Given the description of an element on the screen output the (x, y) to click on. 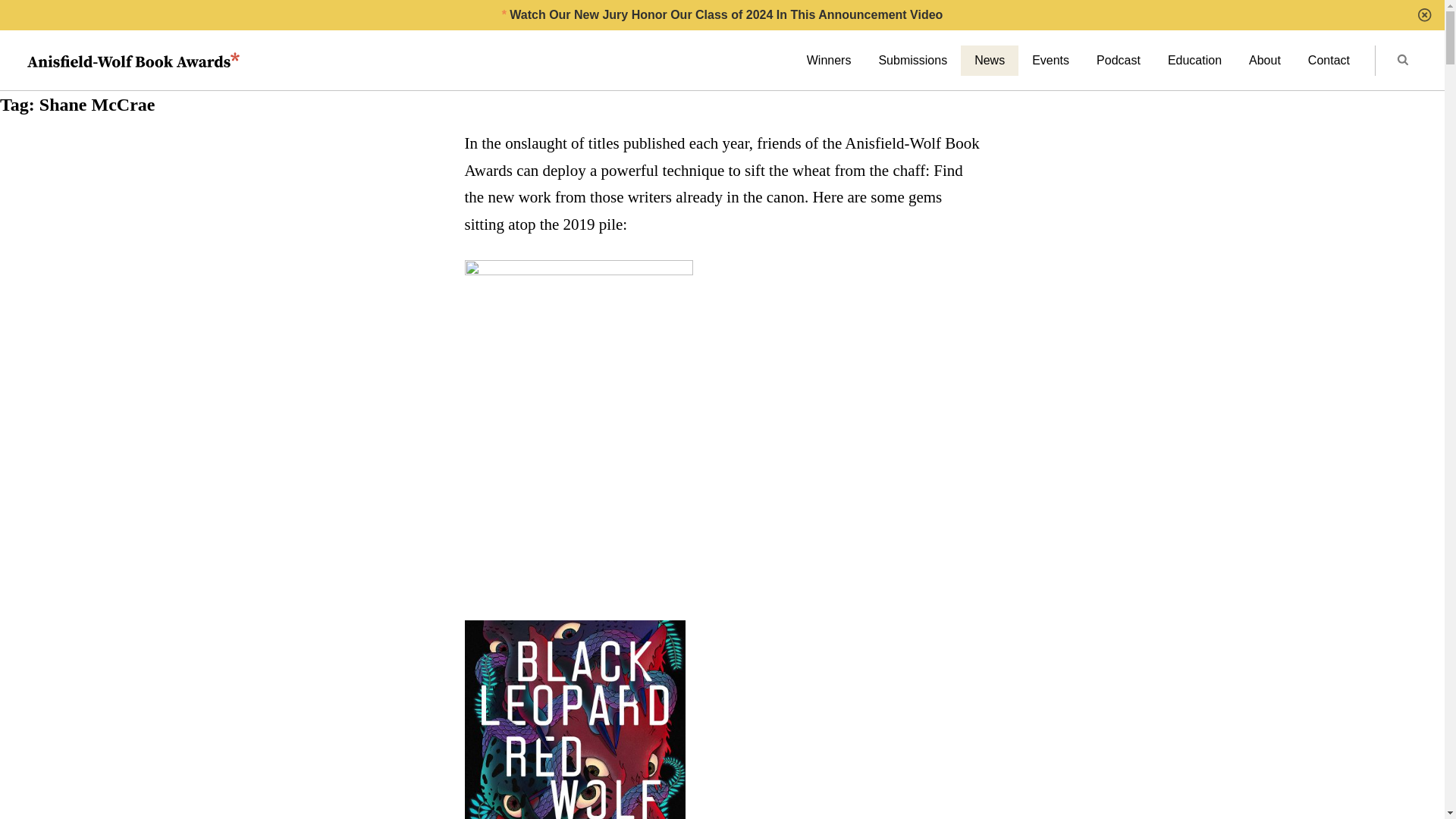
Anisfield-Wolf Book Awards (133, 60)
Winners (828, 60)
Podcast (1118, 60)
About (1264, 60)
Contact (1328, 60)
Submit (1402, 60)
Close (1424, 14)
Education (1194, 60)
Activate search form (1401, 60)
